Given the description of an element on the screen output the (x, y) to click on. 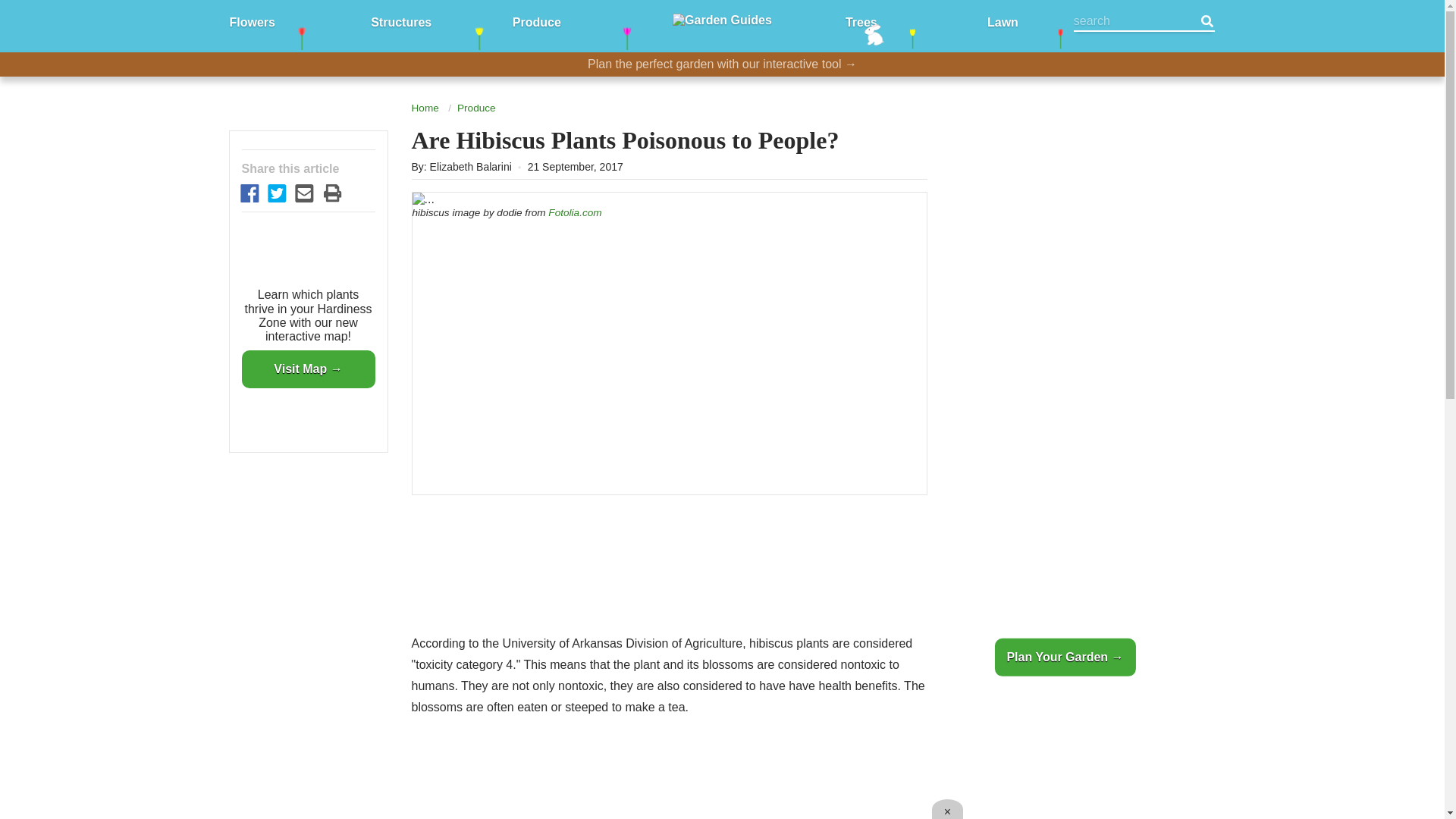
Lawn (1002, 21)
Produce (476, 107)
Fotolia.com (574, 212)
Trees (861, 21)
Structures (400, 21)
Produce (536, 21)
Home (424, 107)
Flowers (251, 21)
